Given the description of an element on the screen output the (x, y) to click on. 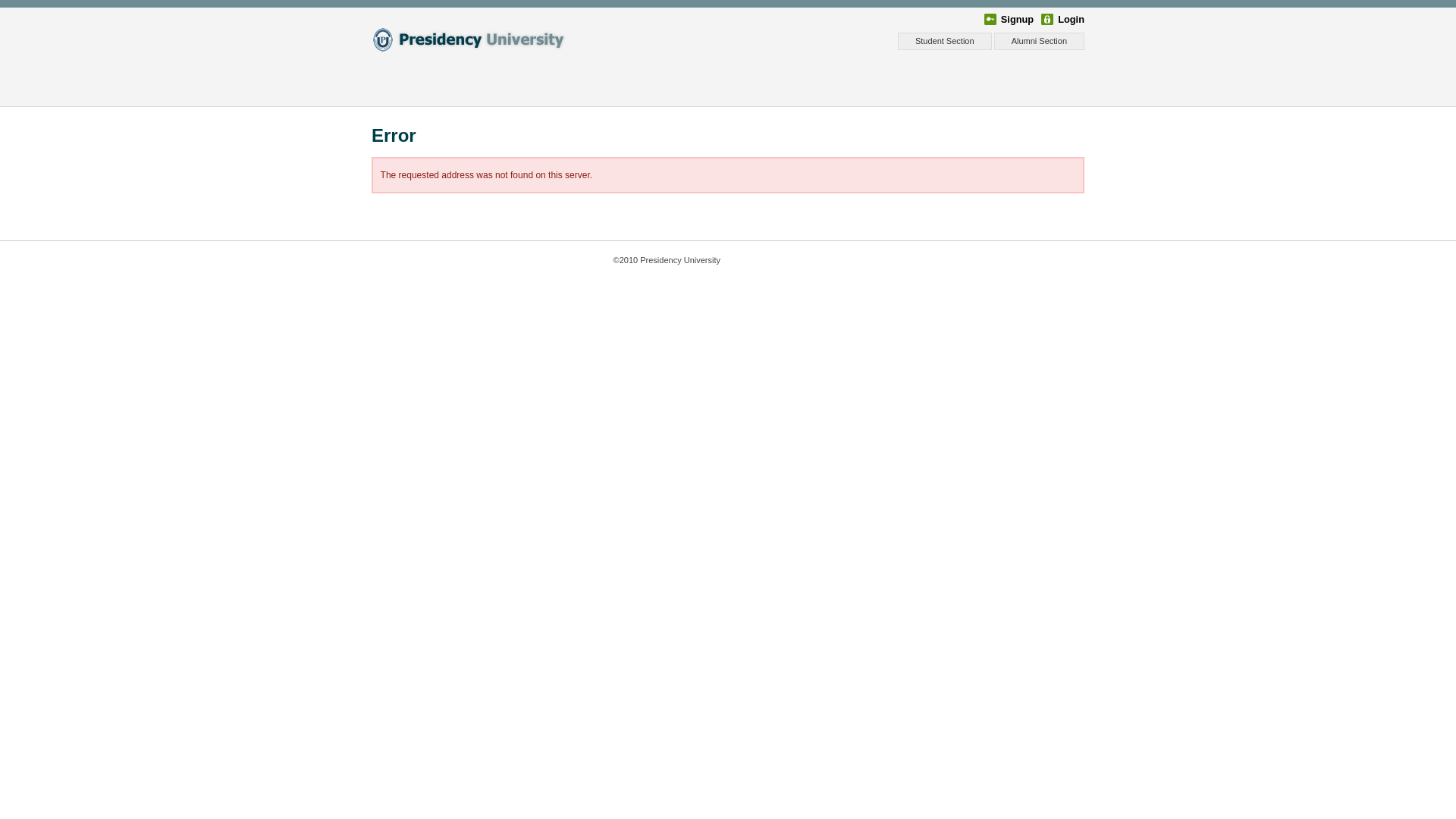
Student Section Element type: text (944, 41)
Alumni Section Element type: text (1039, 41)
Login Element type: text (1062, 19)
Signup Element type: text (1008, 19)
